Given the description of an element on the screen output the (x, y) to click on. 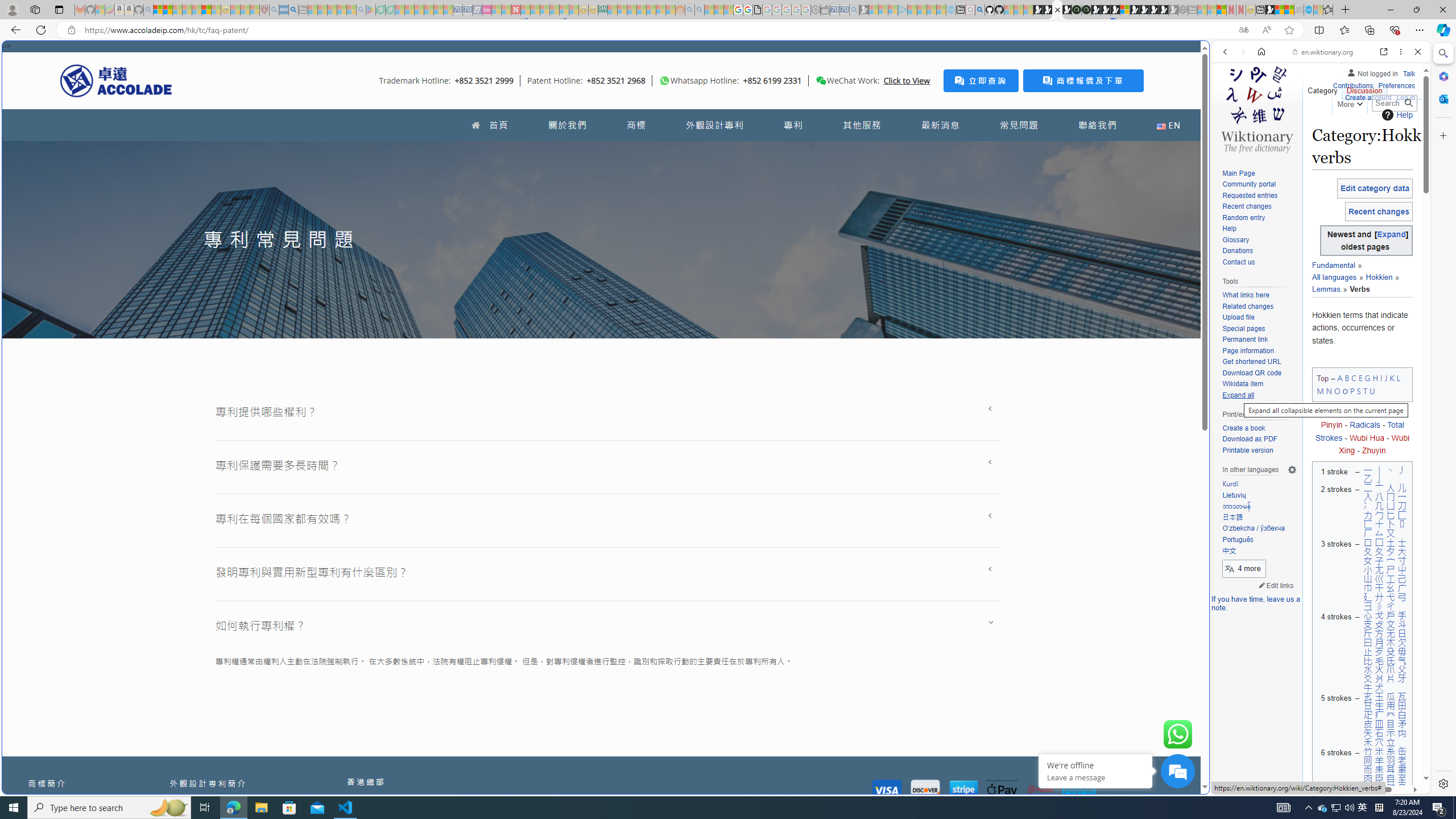
U (1372, 390)
Expand all (1238, 394)
Search or enter web address (922, 108)
Random entry (1259, 218)
